Given the description of an element on the screen output the (x, y) to click on. 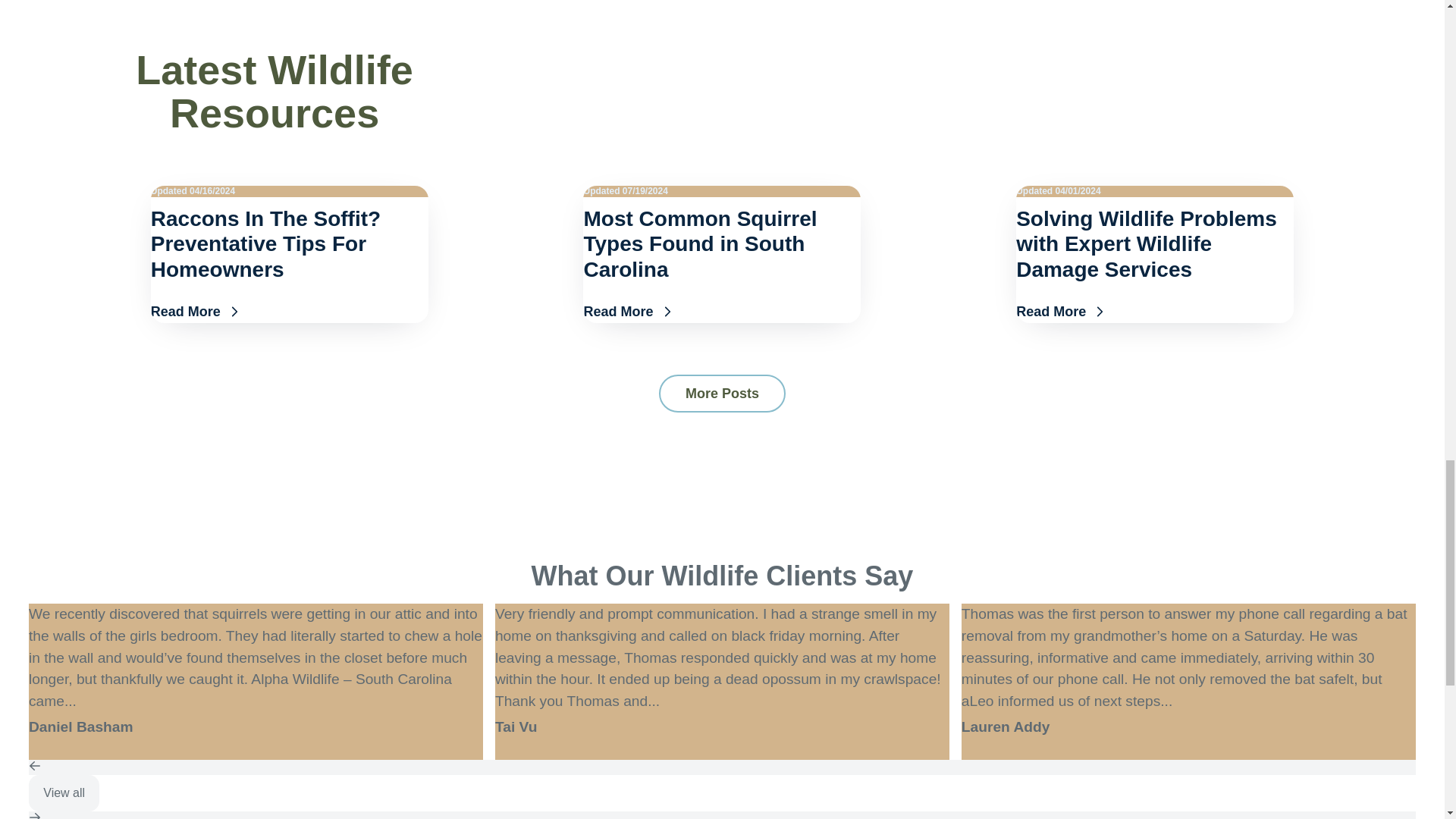
View all (64, 792)
More Posts (722, 393)
